Given the description of an element on the screen output the (x, y) to click on. 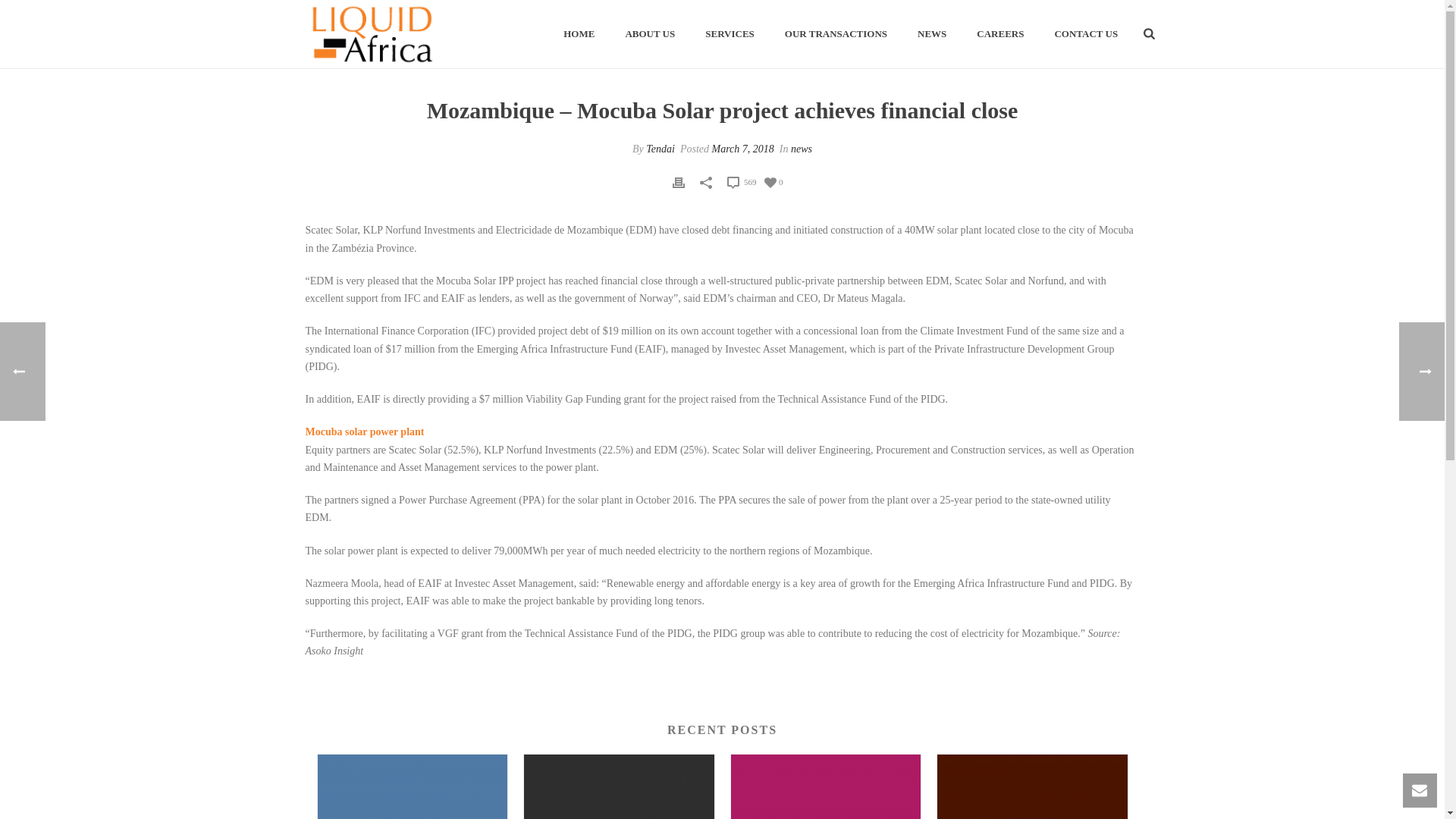
Mauritius company plans to buy off Cipla Quality Chemicals (1031, 786)
CAREERS (999, 34)
SERVICES (730, 34)
SERVICES (730, 34)
Posts by Tendai (660, 148)
NEWS (931, 34)
OUR TRANSACTIONS (836, 34)
March 7, 2018 (742, 148)
NEWS (931, 34)
569 (740, 181)
0 (773, 181)
CONTACT US (1085, 34)
CONTACT US (1085, 34)
